Given the description of an element on the screen output the (x, y) to click on. 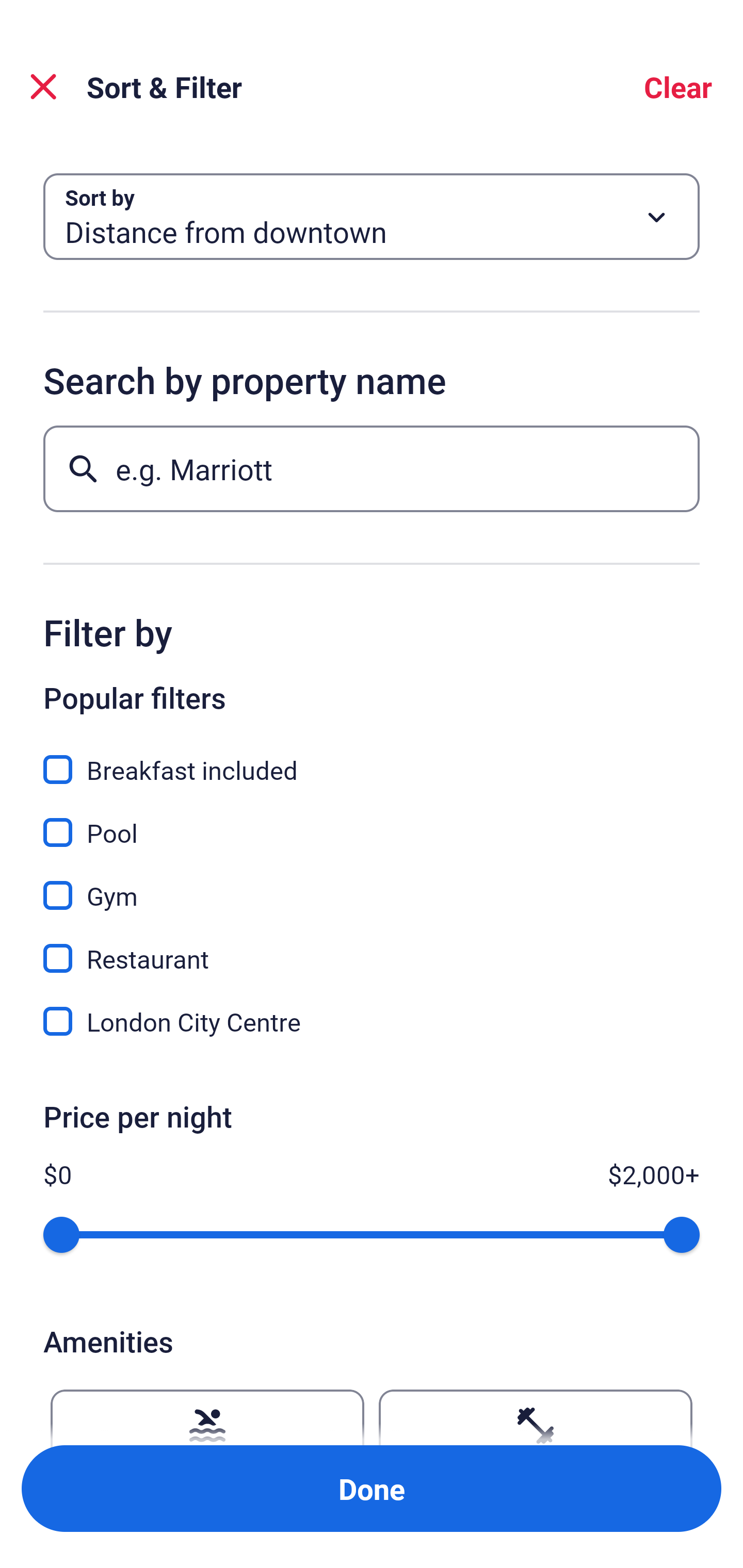
Close Sort and Filter (43, 86)
Clear (677, 86)
Sort by Button Distance from downtown (371, 217)
e.g. Marriott Button (371, 468)
Breakfast included, Breakfast included (371, 757)
Pool, Pool (371, 821)
Gym, Gym (371, 883)
Restaurant, Restaurant (371, 946)
London City Centre, London City Centre (371, 1021)
Apply and close Sort and Filter Done (371, 1488)
